Given the description of an element on the screen output the (x, y) to click on. 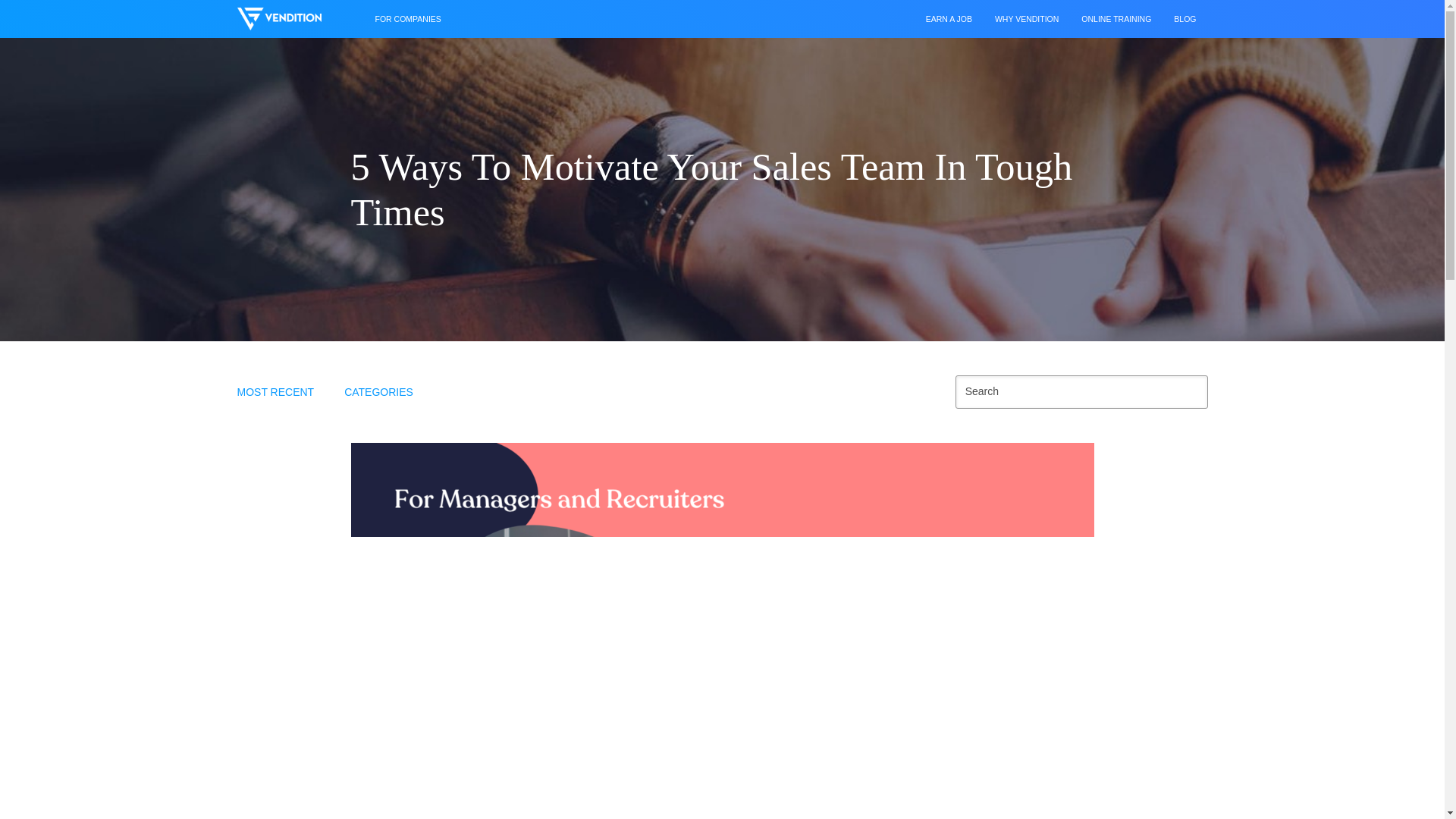
WHY VENDITION (1027, 18)
MOST RECENT (275, 391)
CATEGORIES (379, 391)
ONLINE TRAINING (1115, 18)
BLOG (1184, 18)
FOR COMPANIES (408, 18)
EARN A JOB (949, 18)
